Given the description of an element on the screen output the (x, y) to click on. 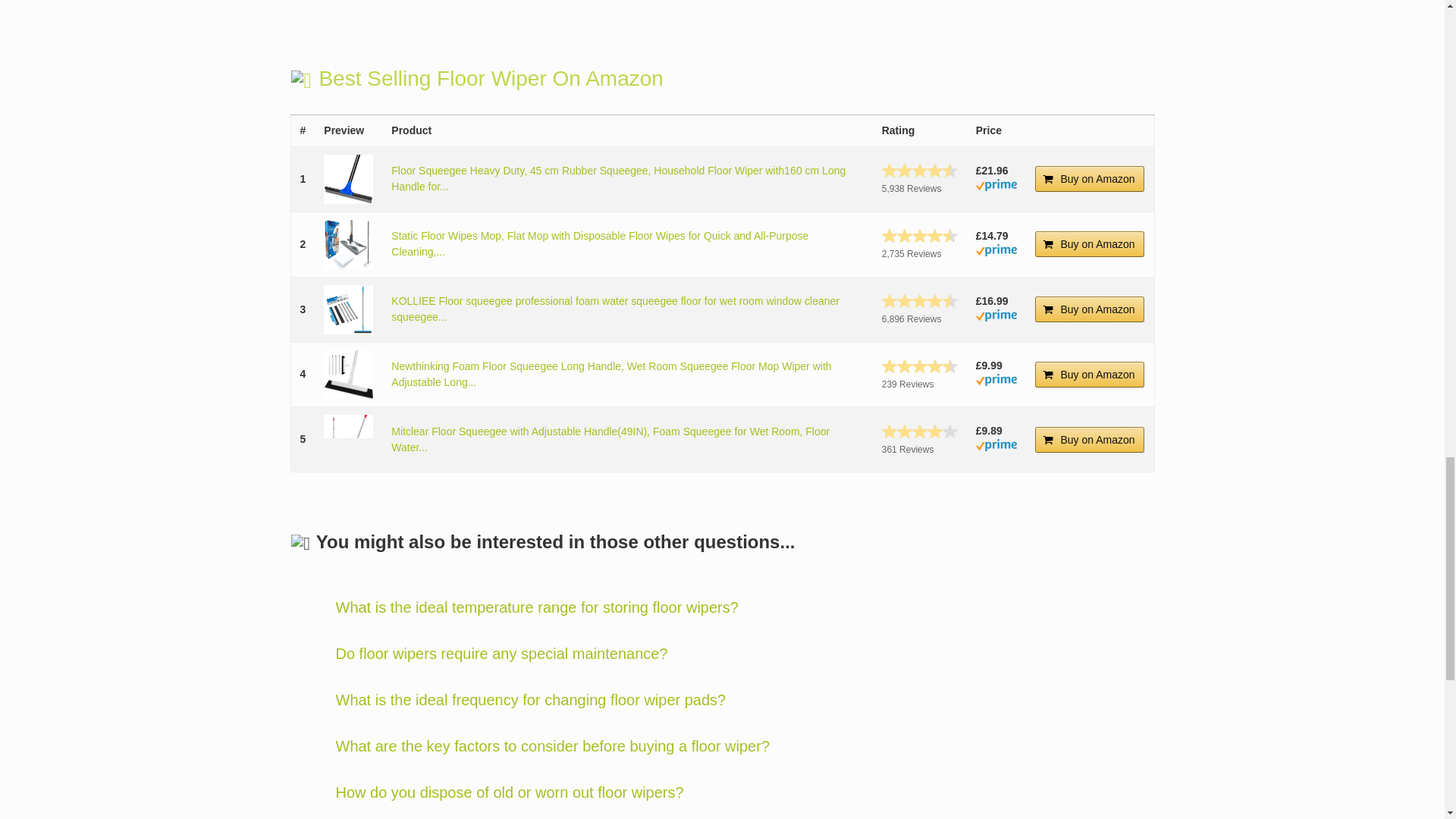
Reviews on Amazon (920, 235)
Reviews on Amazon (920, 170)
Amazon Prime (996, 252)
Amazon Prime (996, 186)
Reviews on Amazon (920, 300)
Buy on Amazon (1089, 178)
Buy on Amazon (1089, 243)
